Given the description of an element on the screen output the (x, y) to click on. 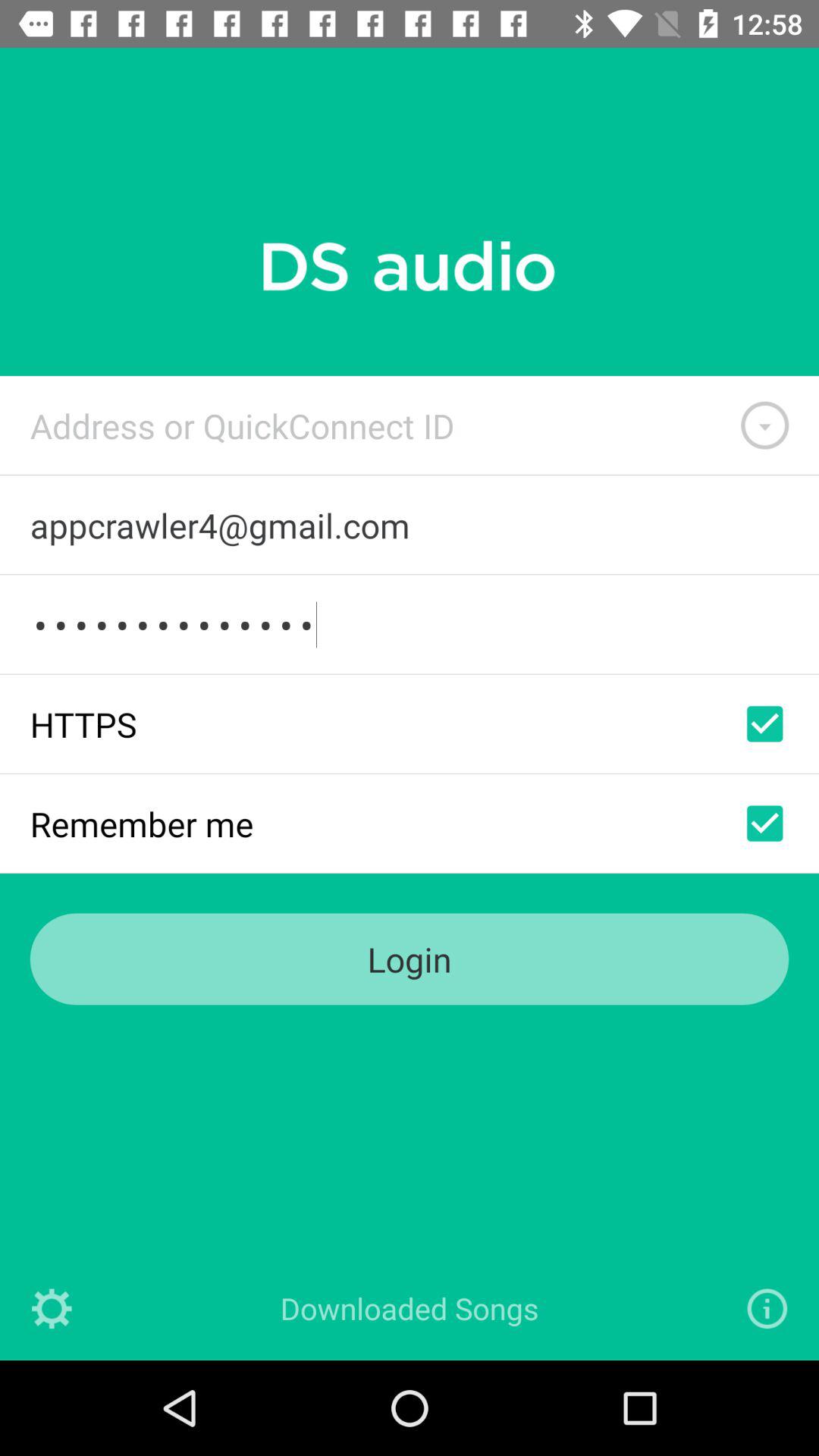
show/hide adress id options (764, 425)
